Given the description of an element on the screen output the (x, y) to click on. 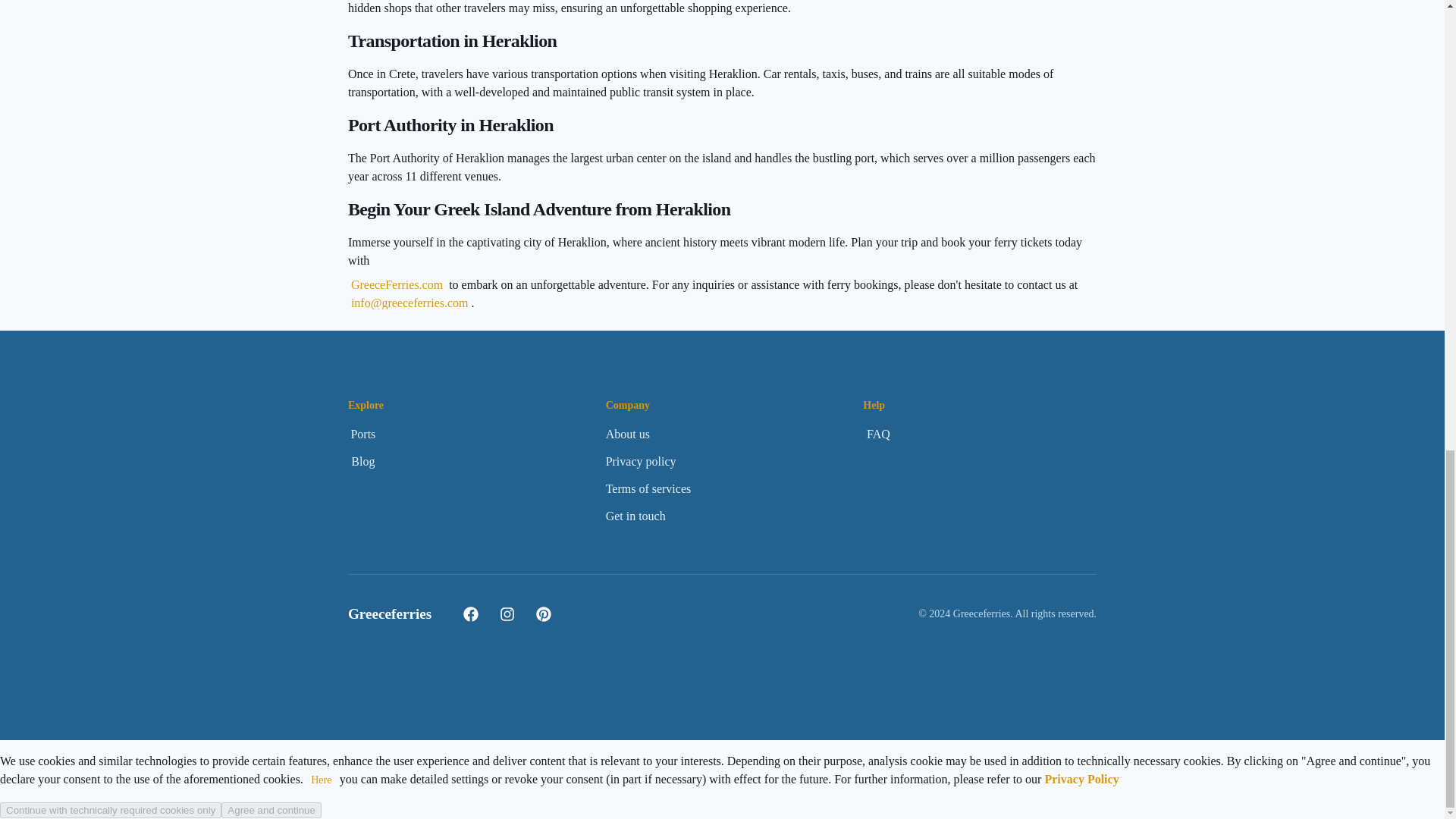
Get in touch (635, 515)
Privacy Policy (1080, 779)
FAQ (878, 433)
Blog (362, 461)
Ports (362, 434)
About us (627, 433)
GreeceFerries.com (396, 284)
Privacy policy (641, 461)
Here (320, 779)
FAQ (878, 434)
Privacy policy (641, 461)
Blog (362, 461)
Terms of services (648, 489)
Ports (362, 433)
About us (627, 434)
